Given the description of an element on the screen output the (x, y) to click on. 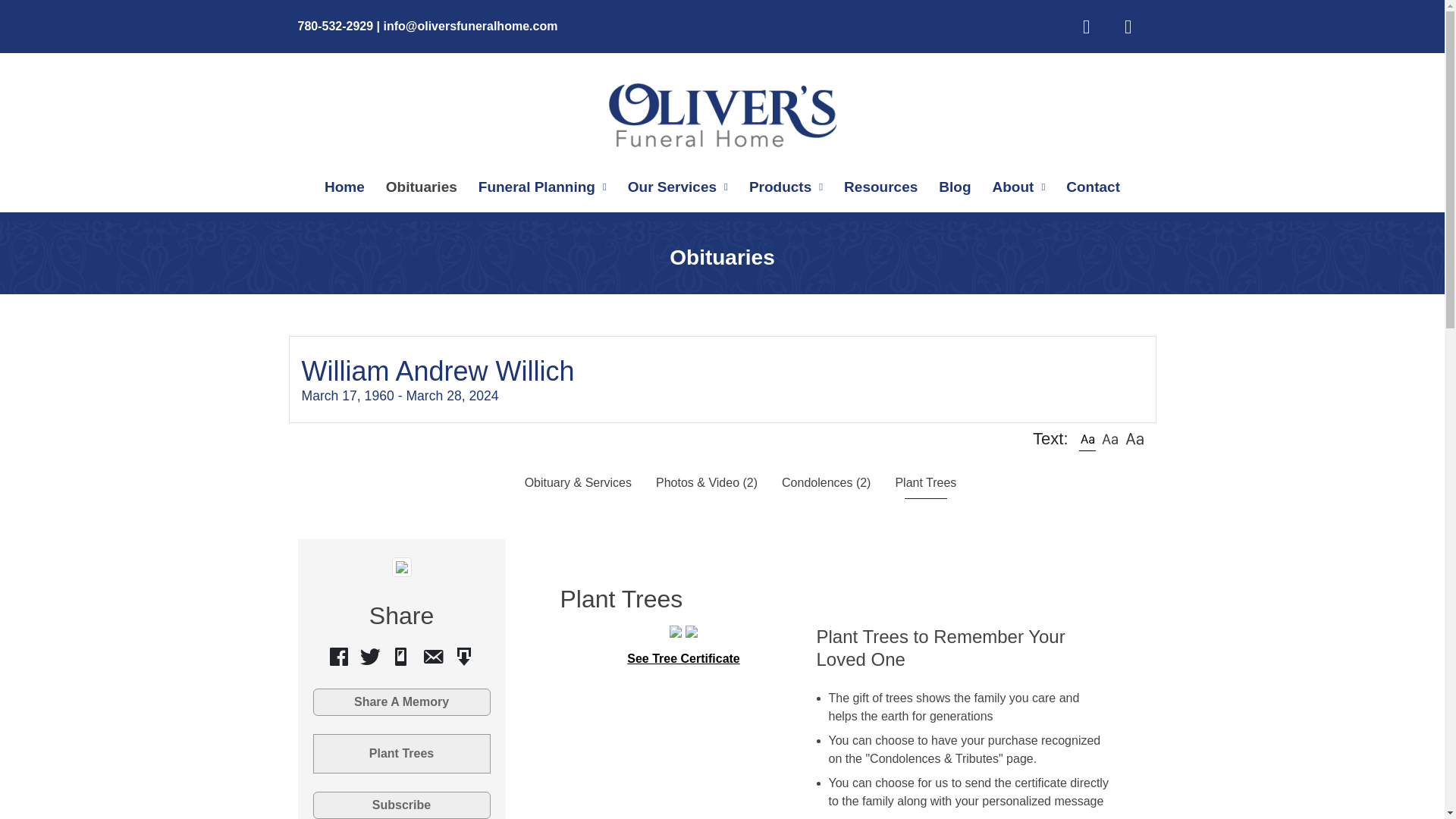
Instagram (1127, 26)
Facebook-square (1086, 26)
Share this obituary on Facebook (338, 656)
Share this obituary via email (433, 656)
Print a pdf of this obituary (464, 656)
Share this obituary via text message (401, 656)
Home (344, 186)
Obituaries (421, 186)
Tweet this obituary (369, 656)
